Given the description of an element on the screen output the (x, y) to click on. 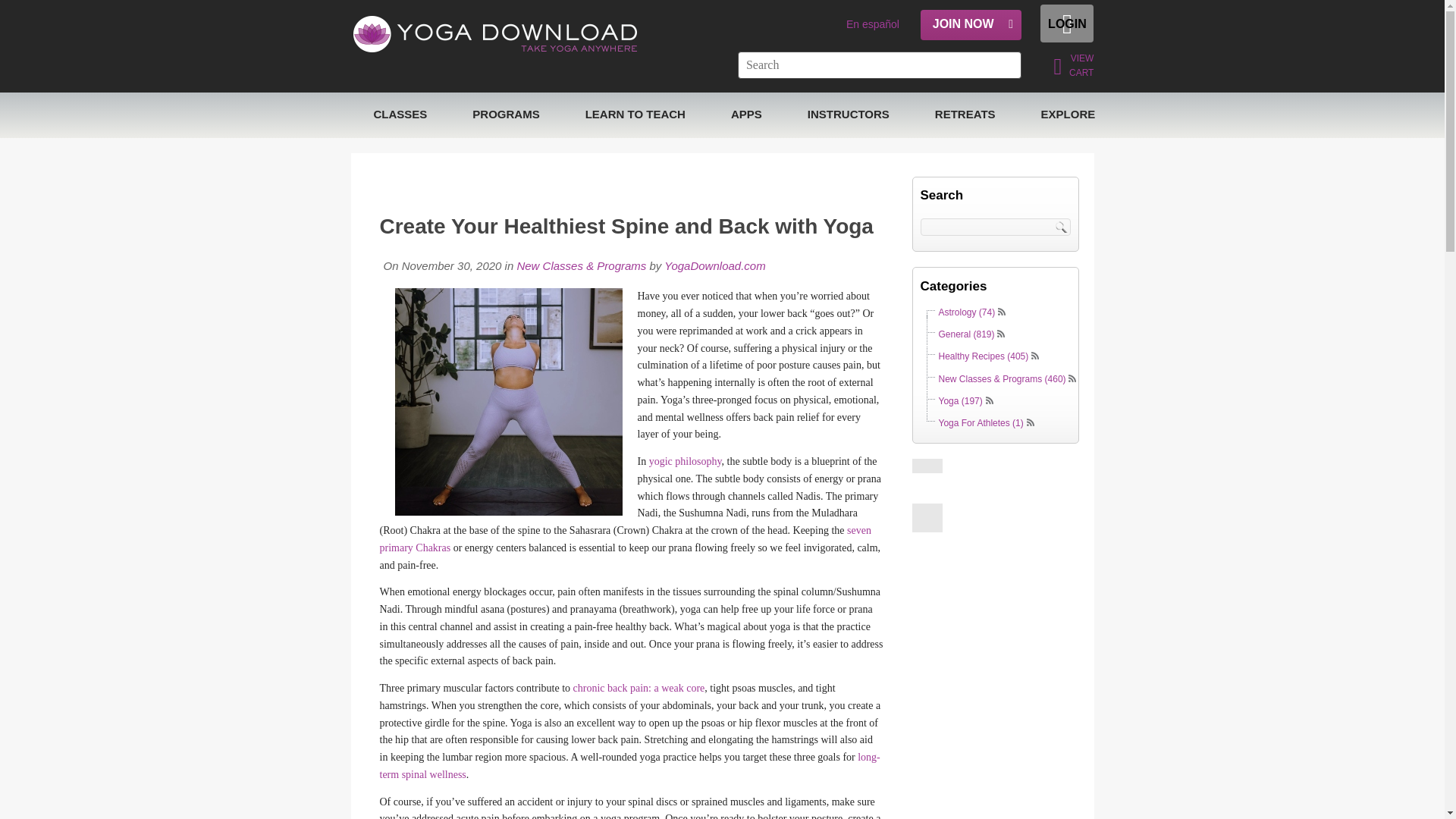
Search (1062, 226)
LEARN TO TEACH (634, 115)
CLASSES (399, 115)
JOIN NOW (971, 24)
Search (1062, 226)
YogaDownload.com (713, 265)
APPS (745, 115)
PROGRAMS (505, 115)
INSTRUCTORS (848, 115)
RETREATS (964, 115)
